Given the description of an element on the screen output the (x, y) to click on. 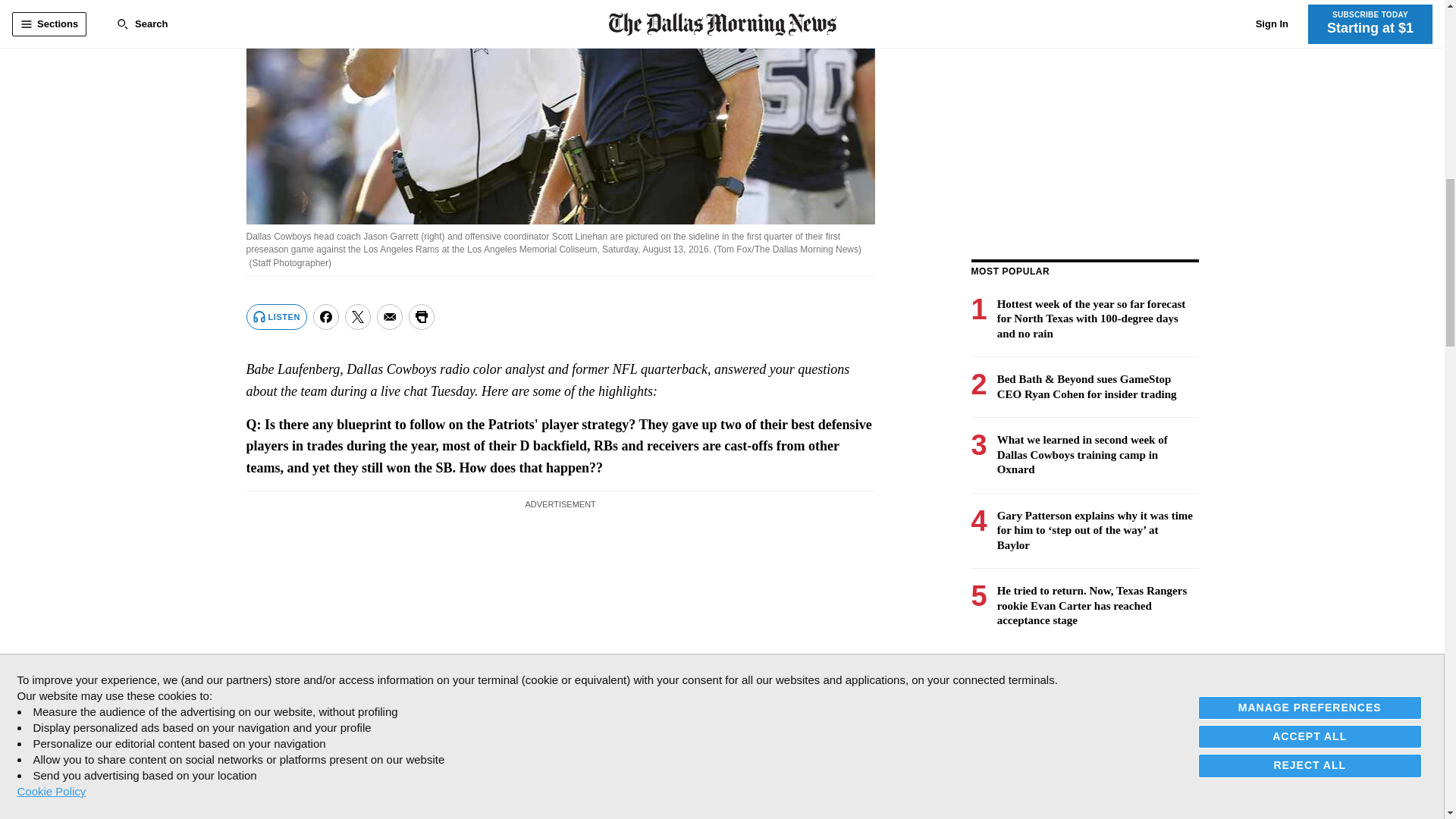
Share on Twitter (358, 316)
Share via Email (390, 316)
Print (421, 316)
Share on Facebook (326, 316)
